Given the description of an element on the screen output the (x, y) to click on. 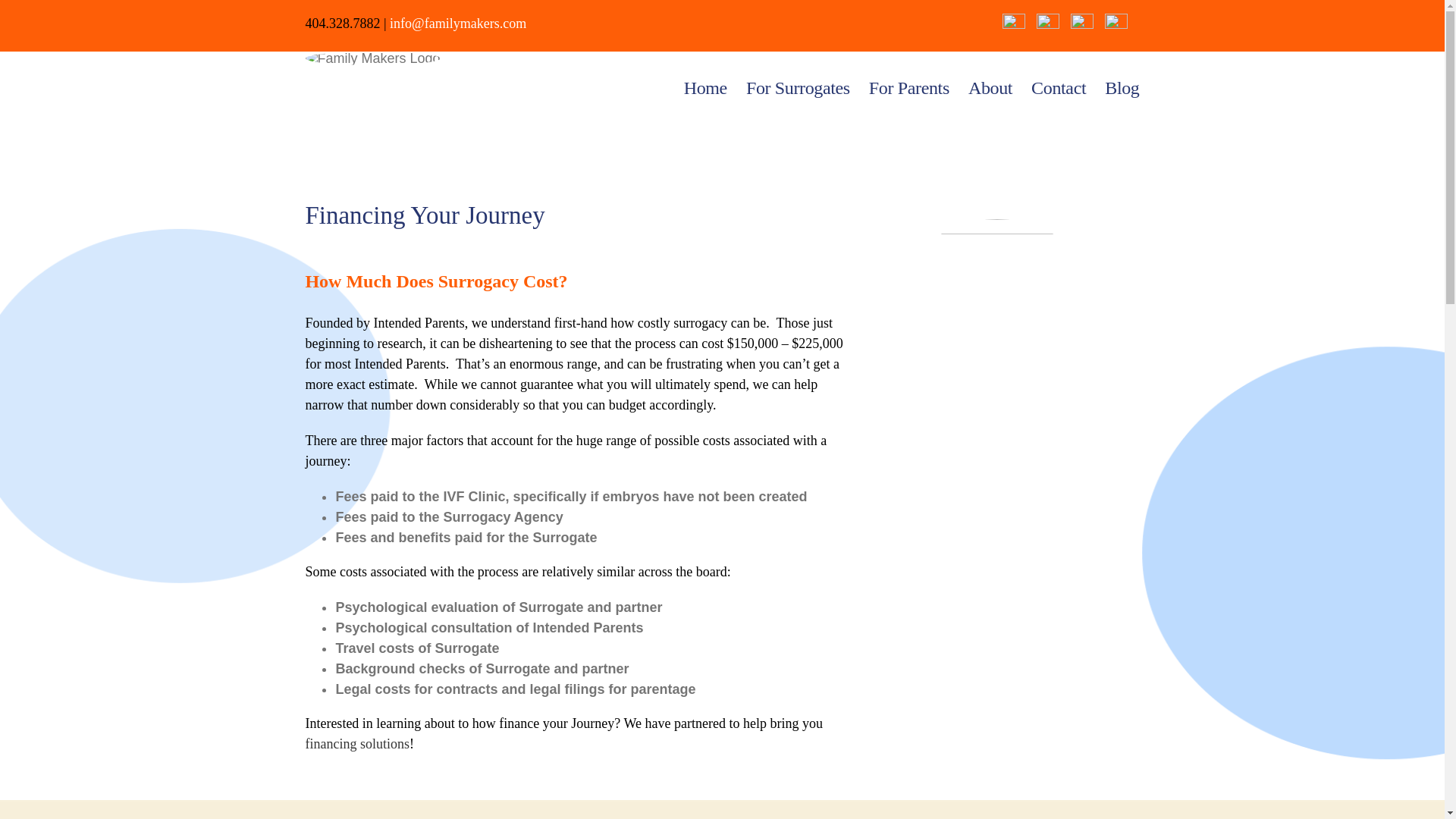
financing solutions (356, 743)
About (989, 87)
For Surrogates (797, 87)
Home (705, 87)
surrogacy for gay couples (996, 332)
For Parents (909, 87)
Blog (1121, 87)
Contact (1058, 87)
